Given the description of an element on the screen output the (x, y) to click on. 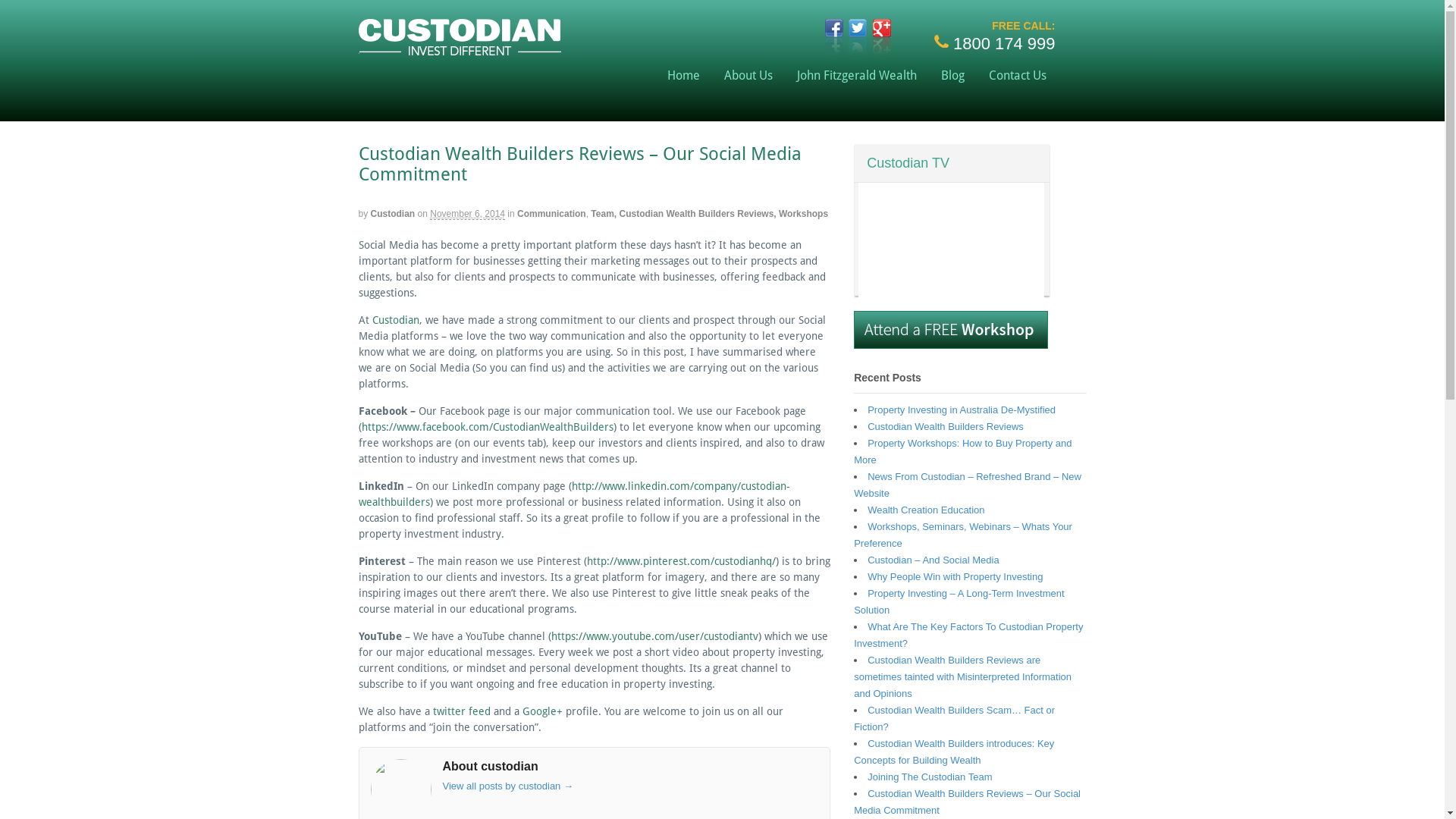
Custodian Element type: text (392, 213)
Joining The Custodian Team Element type: text (929, 776)
https://www.youtube.com/user/custodiantv Element type: text (653, 636)
Wealth Creation Education Element type: text (925, 509)
Communication Element type: text (551, 213)
Google+ Element type: text (541, 711)
Team, Custodian Wealth Builders Reviews, Workshops Element type: text (709, 213)
Property Workshops: How to Buy Property and More Element type: text (962, 451)
Property Investing in Australia De-Mystified Element type: text (961, 409)
twitter feed Element type: text (460, 711)
What Are The Key Factors To Custodian Property Investment? Element type: text (967, 635)
https://www.facebook.com/CustodianWealthBuilders Element type: text (486, 426)
Home Element type: text (683, 75)
Contact Us Element type: text (1017, 75)
Custodian Element type: text (394, 319)
http://www.pinterest.com/custodianhq/ Element type: text (680, 561)
Why People Win with Property Investing Element type: text (954, 576)
http://www.linkedin.com/company/custodian-wealthbuilders Element type: text (573, 494)
John Fitzgerald Element type: hover (458, 48)
Custodian Wealth Builders Reviews Element type: text (945, 426)
About Us Element type: text (748, 75)
Blog Element type: text (952, 75)
John Fitzgerald Wealth Element type: text (856, 75)
